Given the description of an element on the screen output the (x, y) to click on. 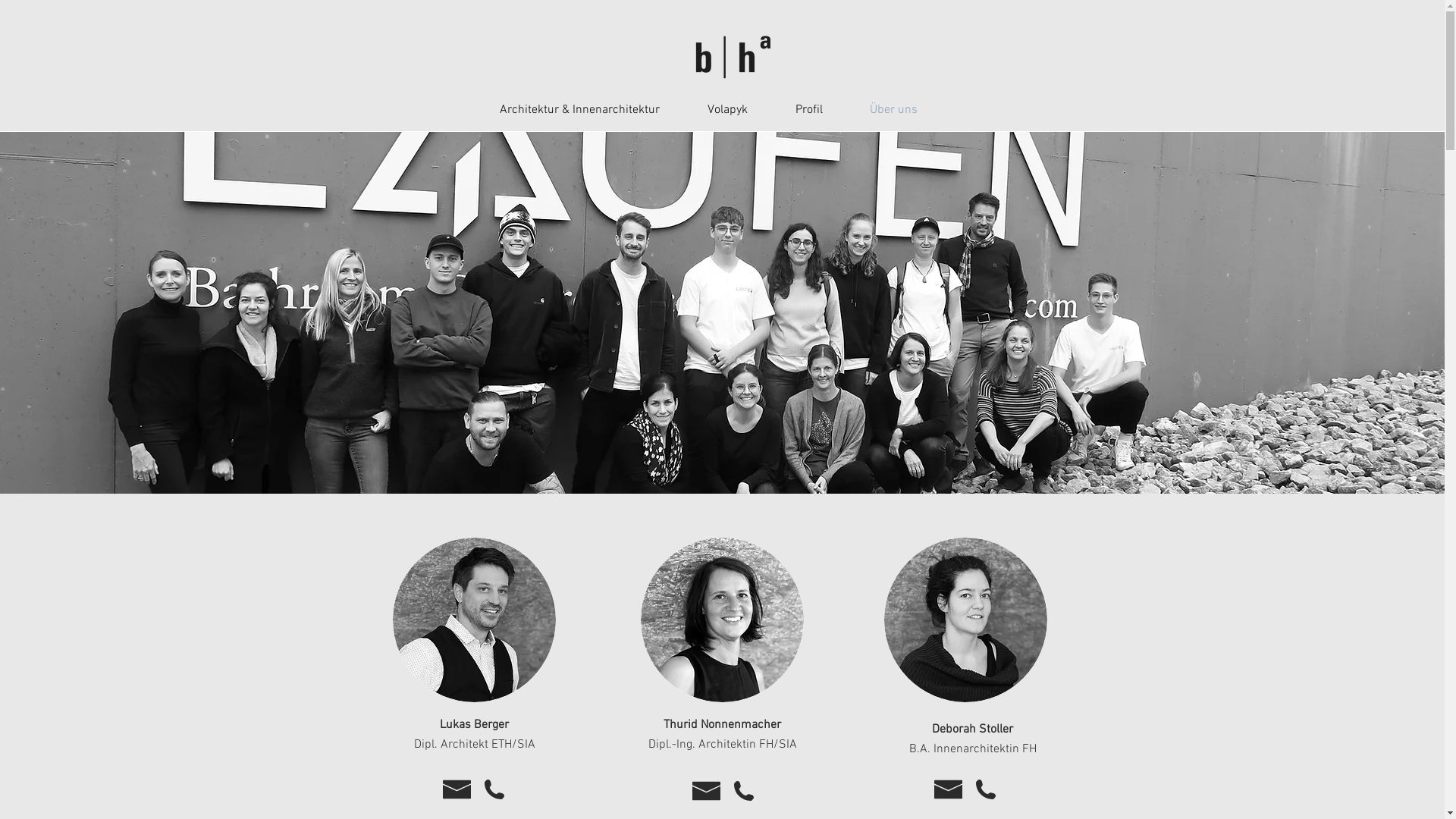
Architektur & Innenarchitektur Element type: text (595, 110)
Profil Element type: text (824, 110)
Deborah.jpg Element type: hover (965, 619)
Thurid.jpg Element type: hover (721, 619)
Volapyk Element type: text (743, 110)
Lukas.jpg Element type: hover (473, 619)
Logo_bha.png Element type: hover (727, 57)
